Given the description of an element on the screen output the (x, y) to click on. 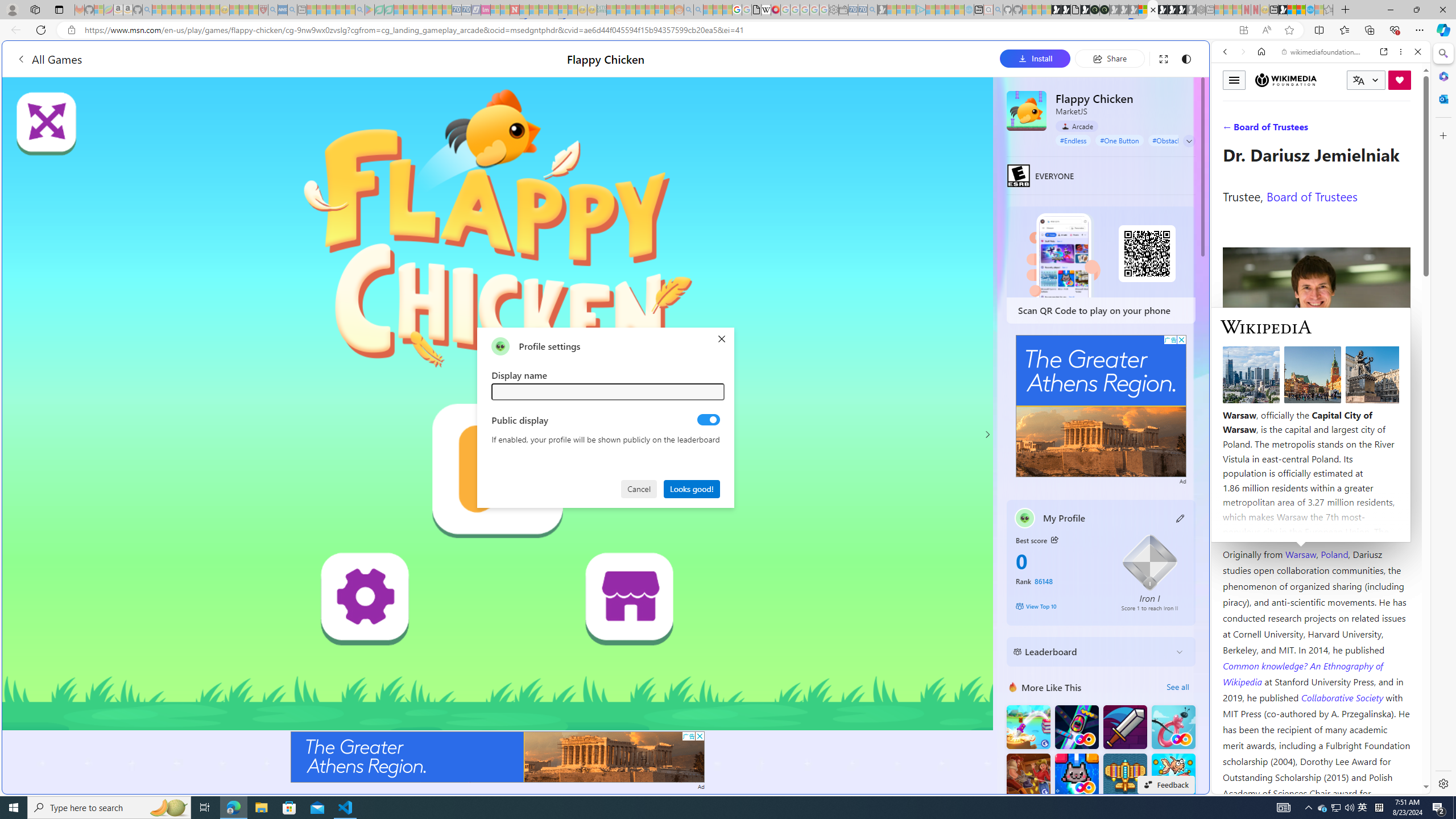
Search or enter web address (922, 108)
Harvard University (1259, 526)
Actions for this site (1370, 583)
View Top 10 (1060, 605)
EVERYONE (1018, 175)
All Games (49, 58)
Class: button edit-icon (1180, 517)
Target page - Wikipedia (766, 9)
